Given the description of an element on the screen output the (x, y) to click on. 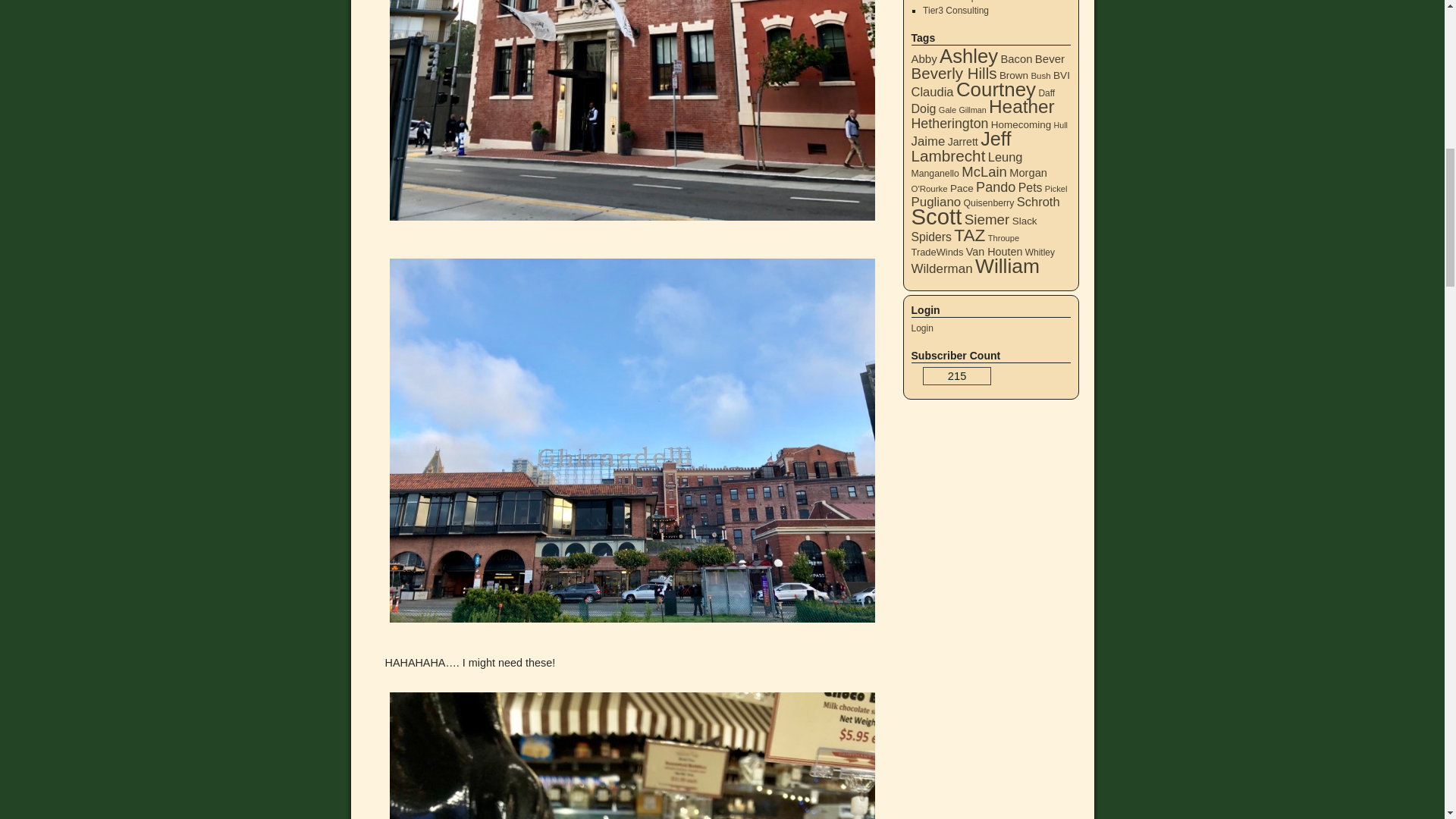
Tier3 Consulting (955, 9)
Login (922, 327)
